Given the description of an element on the screen output the (x, y) to click on. 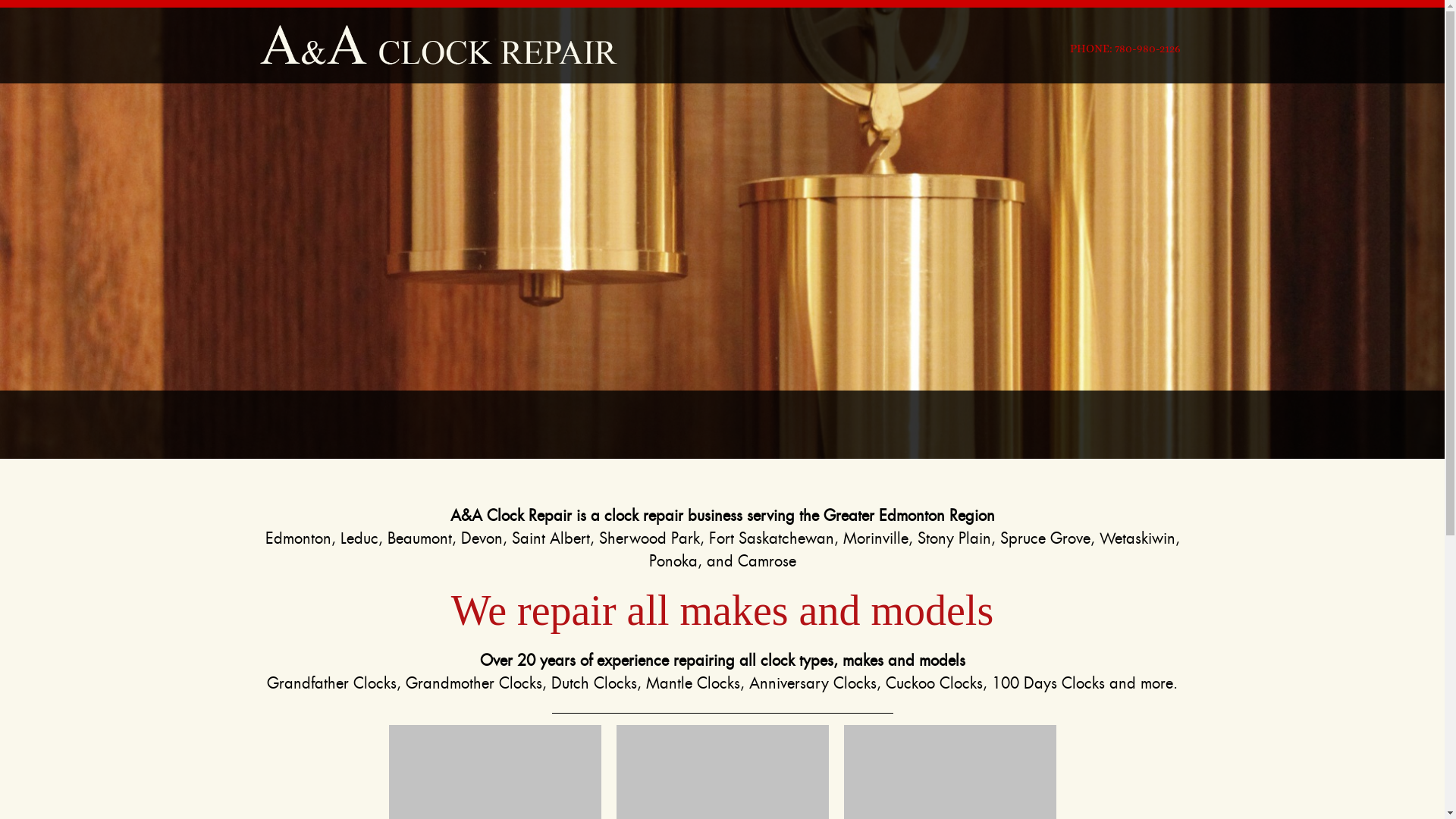
PHONE: 780-980-2126 Element type: text (1125, 45)
Go to site home page Element type: hover (440, 45)
